Given the description of an element on the screen output the (x, y) to click on. 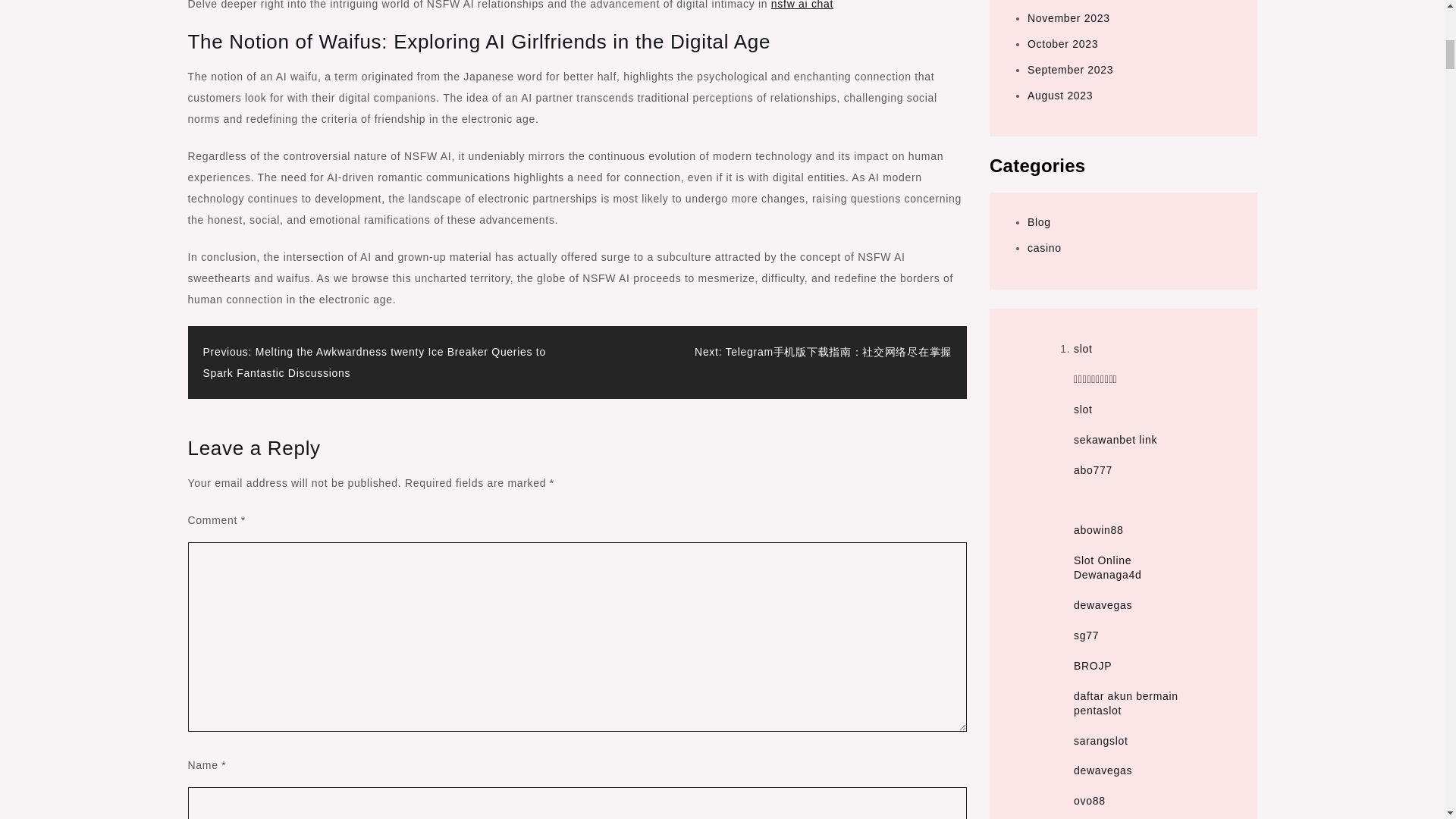
Blog (1039, 222)
sekawanbet link (1115, 439)
August 2023 (1060, 95)
nsfw ai chat (801, 4)
slot (1083, 409)
slot (1083, 348)
September 2023 (1070, 69)
casino (1044, 247)
abo777 (1093, 469)
November 2023 (1068, 18)
October 2023 (1062, 43)
